Given the description of an element on the screen output the (x, y) to click on. 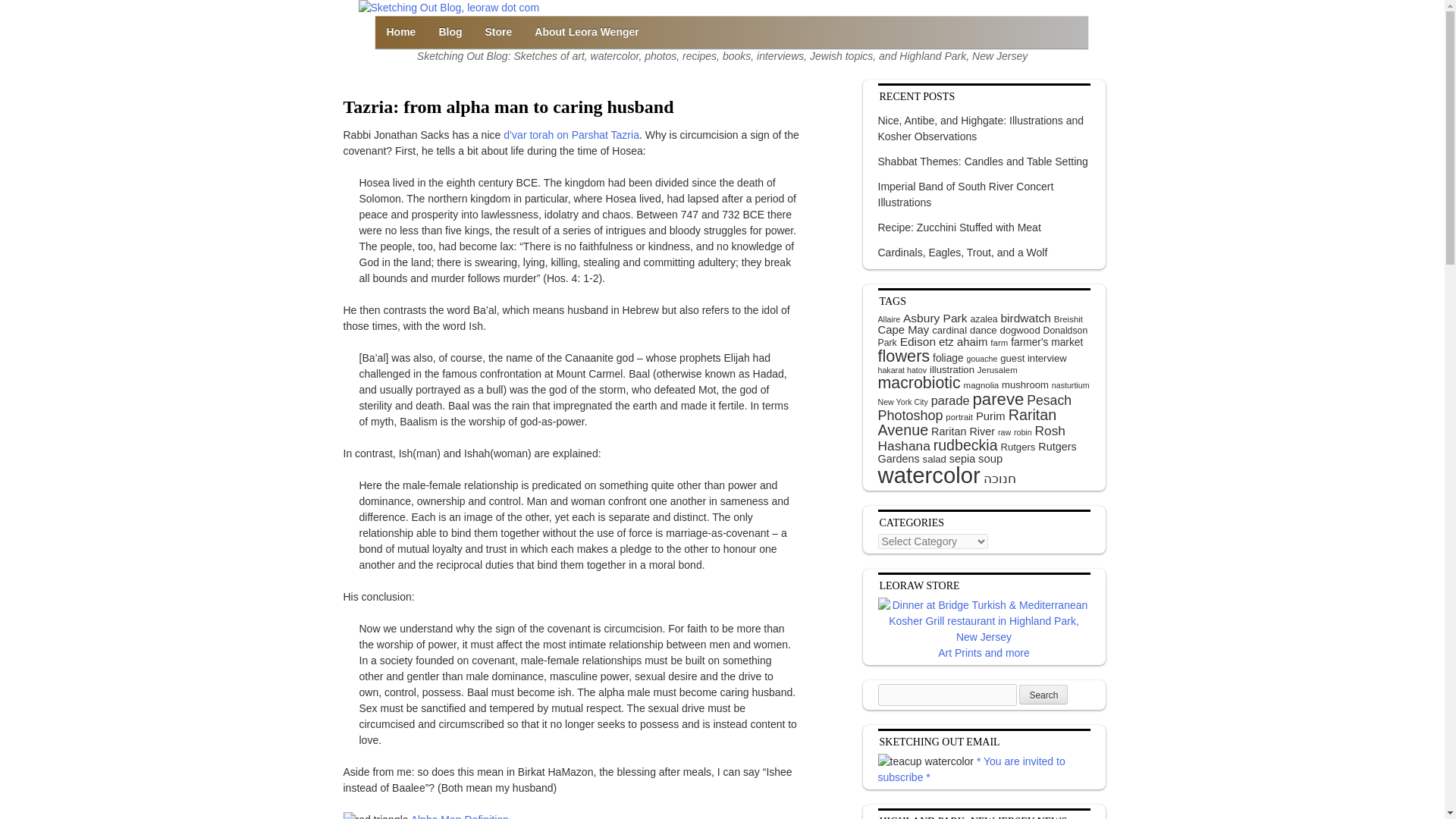
Recipe: Zucchini Stuffed with Meat (959, 227)
Imperial Band of South River Concert Illustrations (965, 194)
Home (400, 31)
Store (499, 31)
About Leora Wenger (585, 31)
Alpha Man Definition (459, 816)
Cardinals, Eagles, Trout, and a Wolf (962, 252)
Search (1043, 694)
Shabbat Themes: Candles and Table Setting (982, 161)
